Given the description of an element on the screen output the (x, y) to click on. 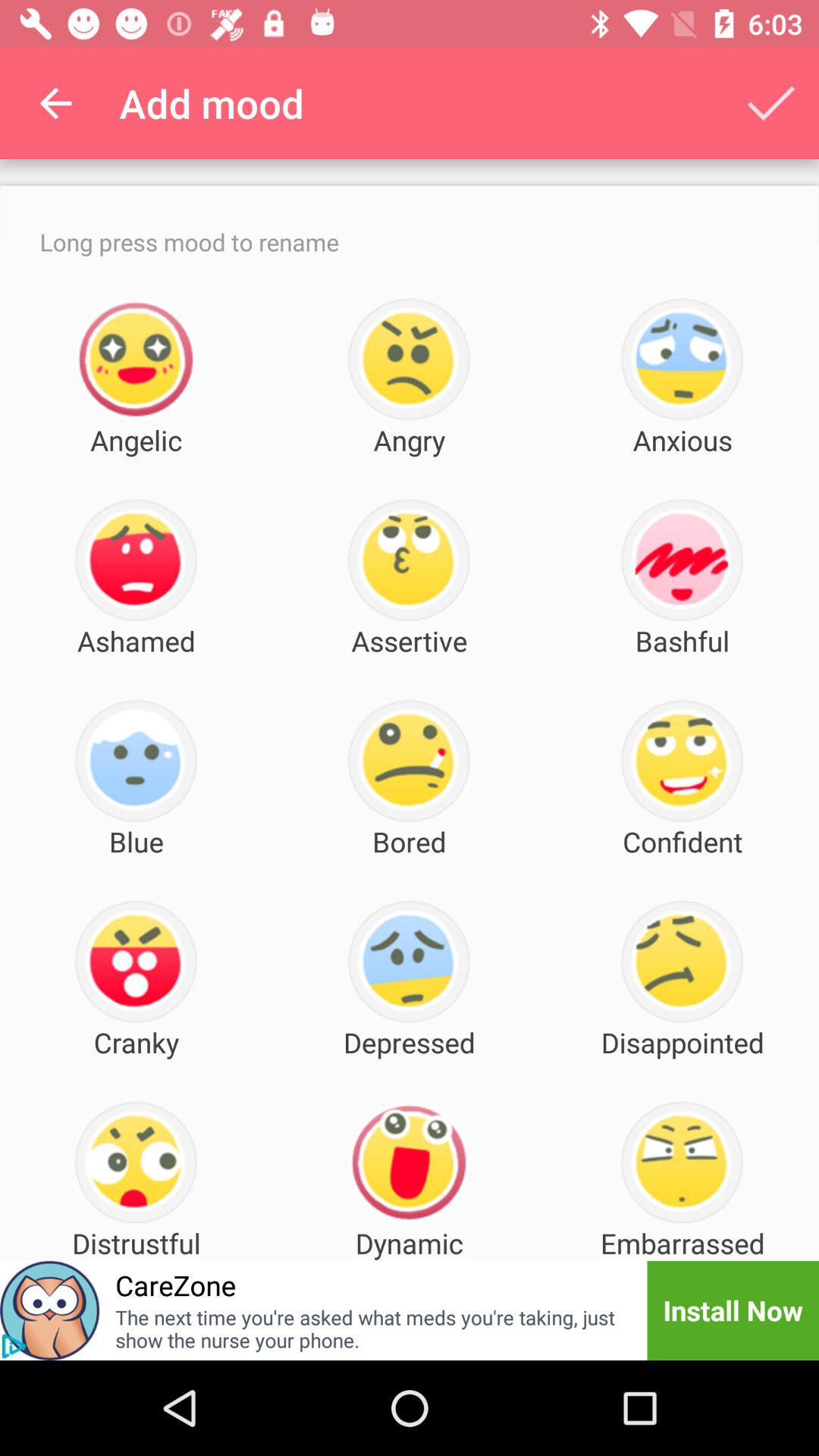
open item next to add mood icon (55, 103)
